Given the description of an element on the screen output the (x, y) to click on. 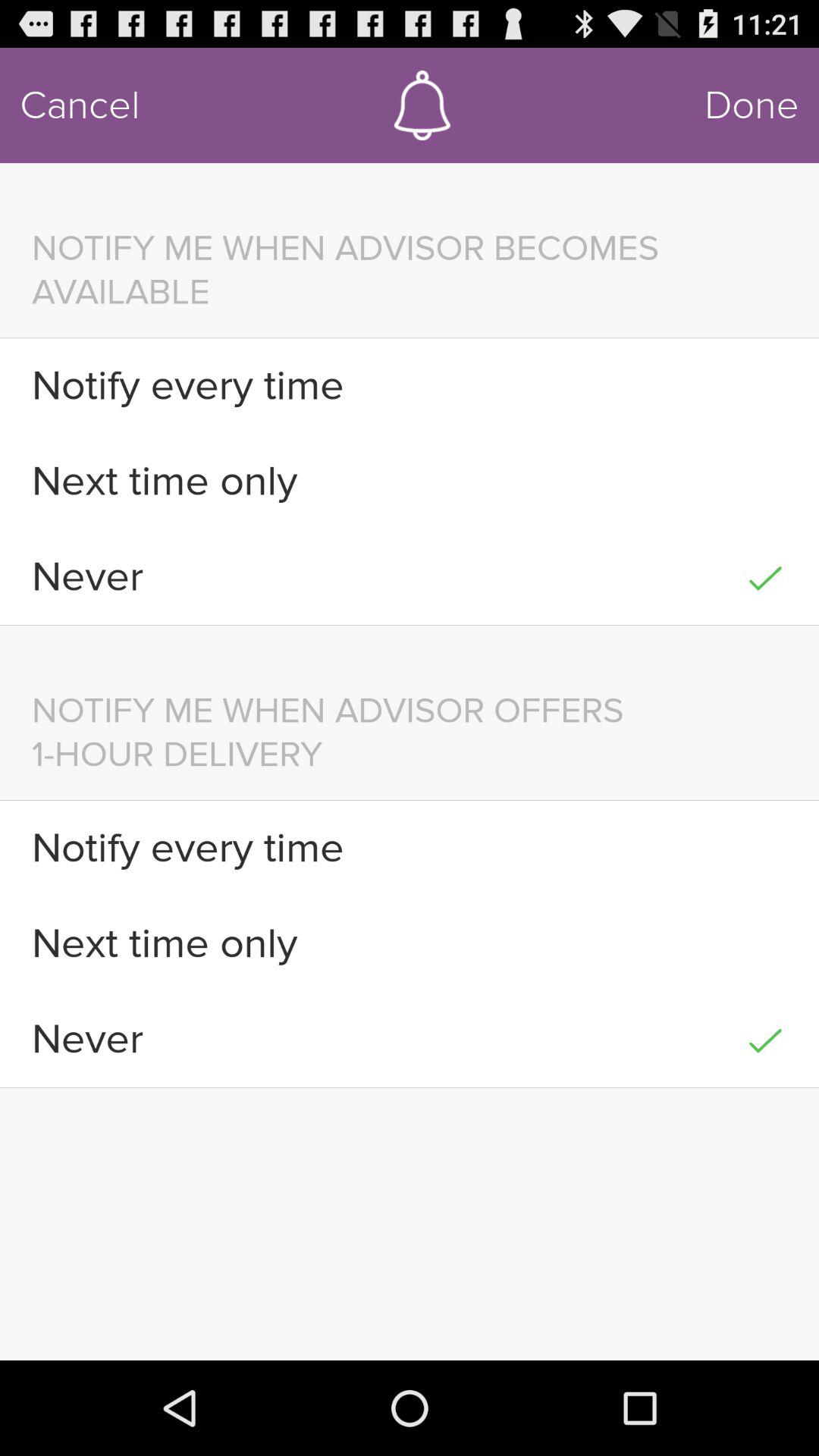
select the cancel item (79, 105)
